Given the description of an element on the screen output the (x, y) to click on. 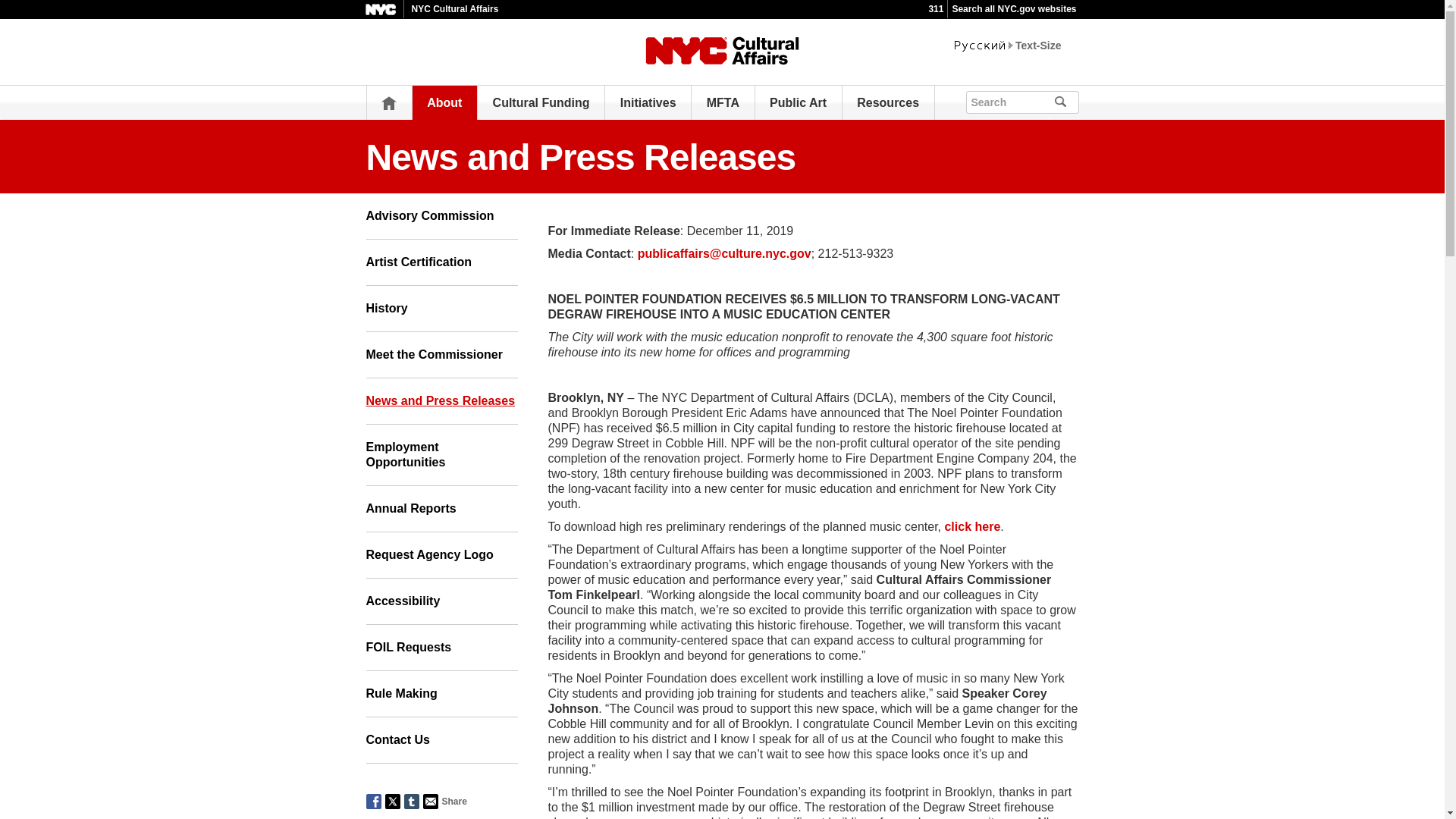
search (1081, 100)
Advisory Commission (440, 216)
About (443, 102)
Initiatives (648, 102)
Artist Certification (440, 262)
search (1081, 100)
Rule Making (440, 693)
Request Agency Logo (440, 555)
click here (971, 526)
Meet the Commissioner (440, 355)
Search all NYC.gov websites (1013, 9)
Resources (887, 102)
History (440, 308)
Cultural Funding (541, 102)
Public Art (798, 102)
